Given the description of an element on the screen output the (x, y) to click on. 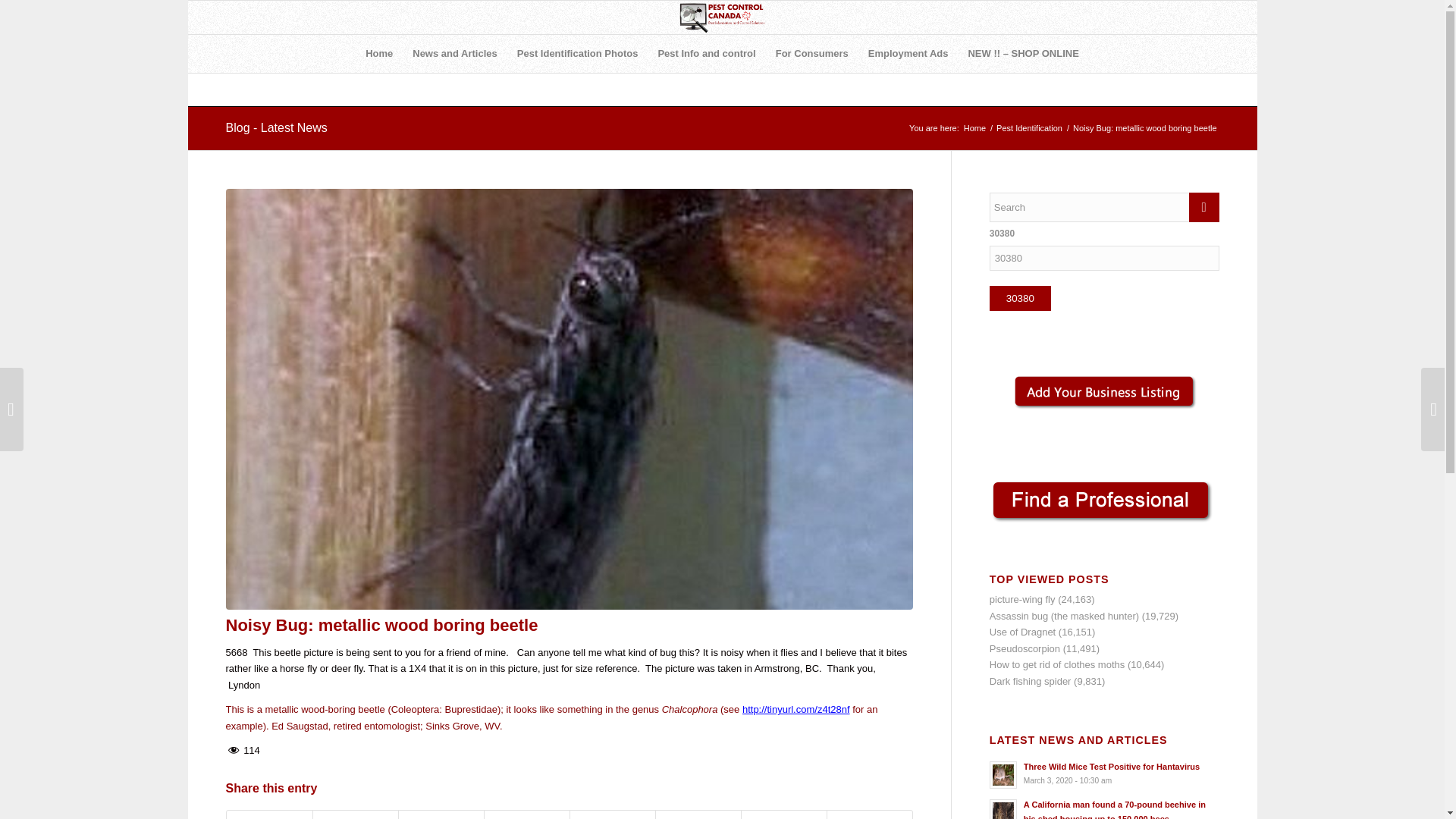
PEST CONTROL CANADA (974, 128)
Home (379, 53)
30380 (1020, 298)
Permanent Link: Noisy Bug:  metallic wood boring beetle (381, 624)
News and Articles (454, 53)
Pest Info and control (706, 53)
Permanent Link: Blog - Latest News (276, 127)
Pest Identification Photos (576, 53)
30380 (1020, 298)
